Given the description of an element on the screen output the (x, y) to click on. 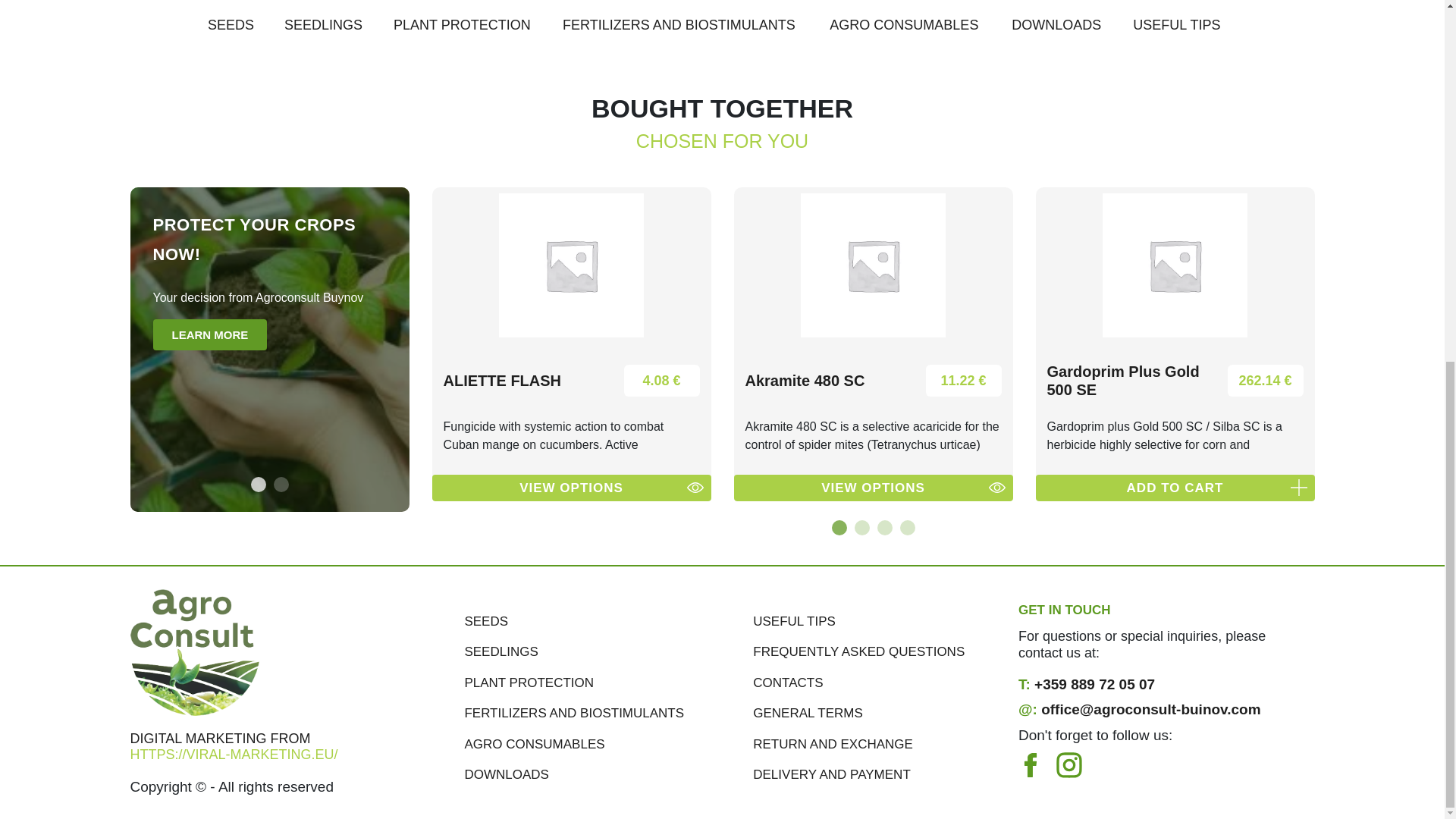
on (756, 4)
